Given the description of an element on the screen output the (x, y) to click on. 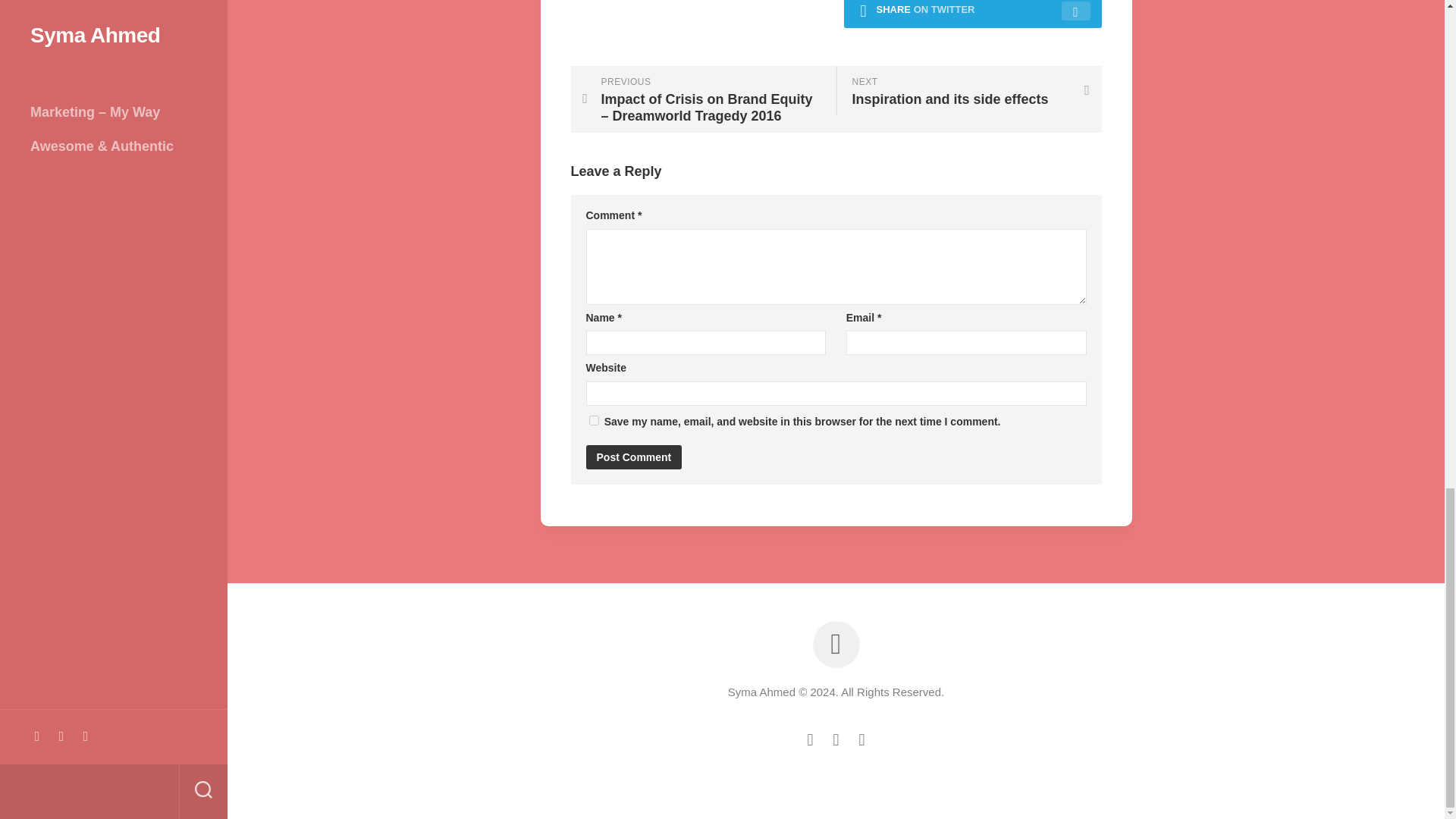
SHARE ON TWITTER (971, 14)
yes (593, 420)
Post Comment (633, 457)
Instagram (967, 90)
LinkedIn (836, 740)
Twitter (810, 740)
Post Comment (861, 740)
